Given the description of an element on the screen output the (x, y) to click on. 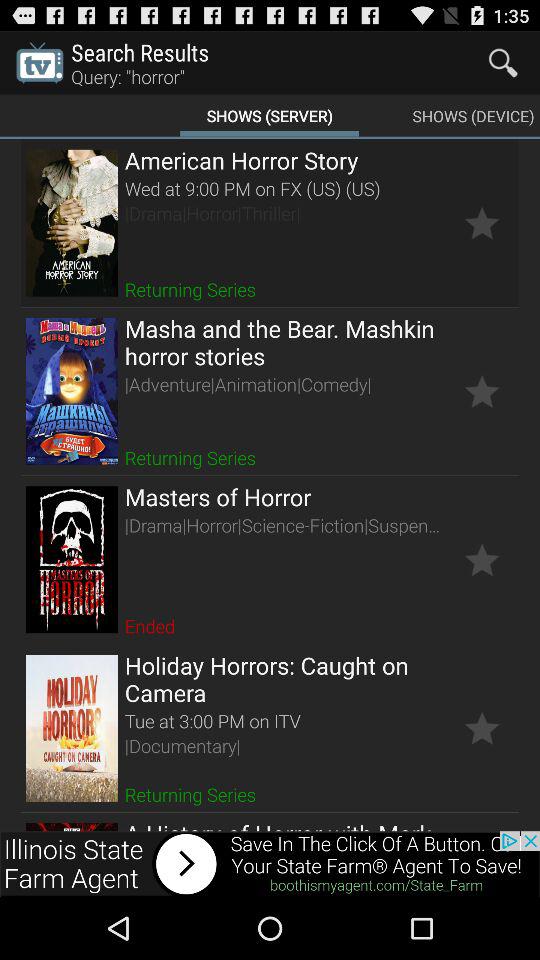
favourite (481, 559)
